Given the description of an element on the screen output the (x, y) to click on. 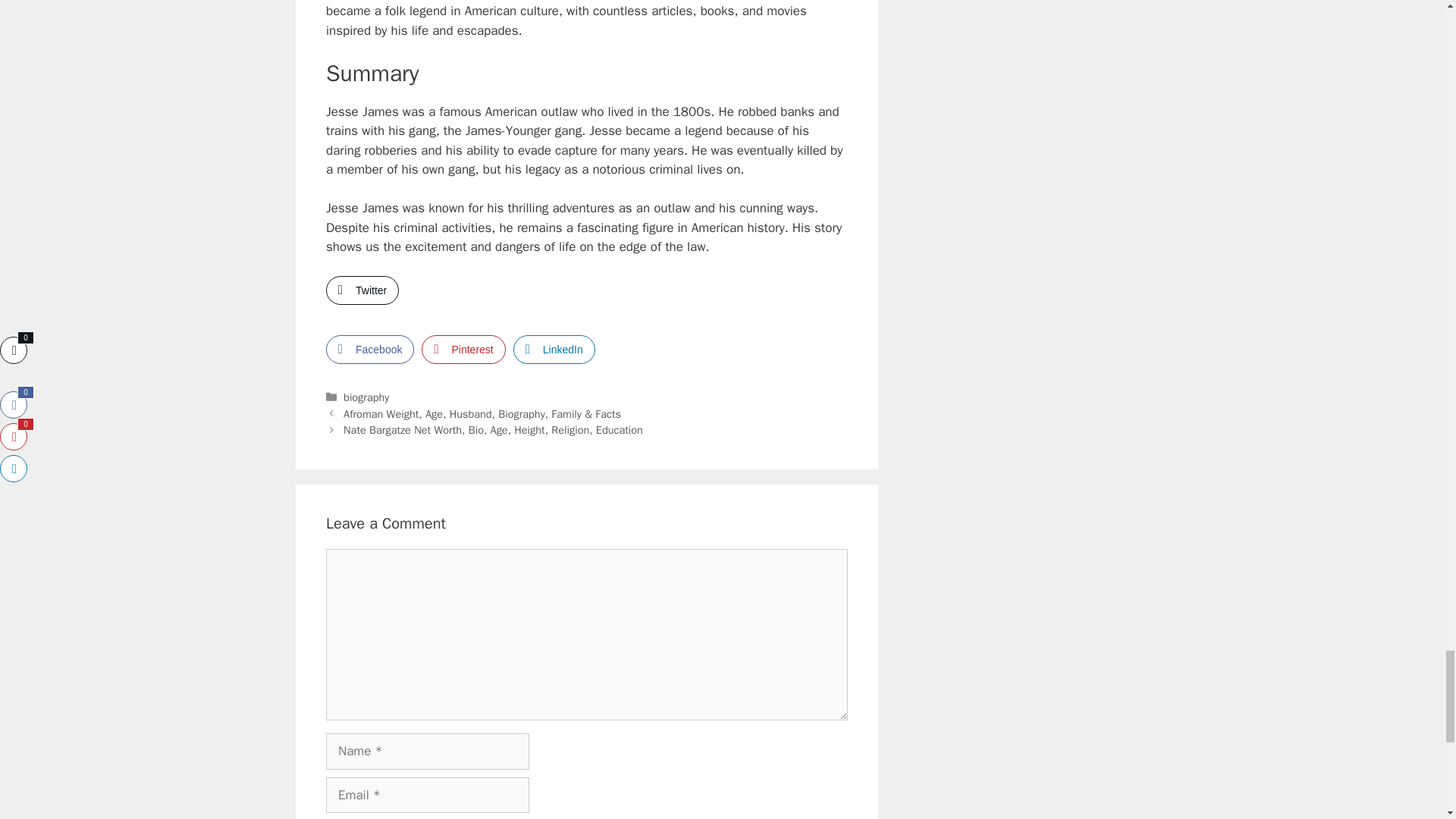
Facebook (369, 348)
Twitter (362, 290)
Pinterest (463, 348)
